Given the description of an element on the screen output the (x, y) to click on. 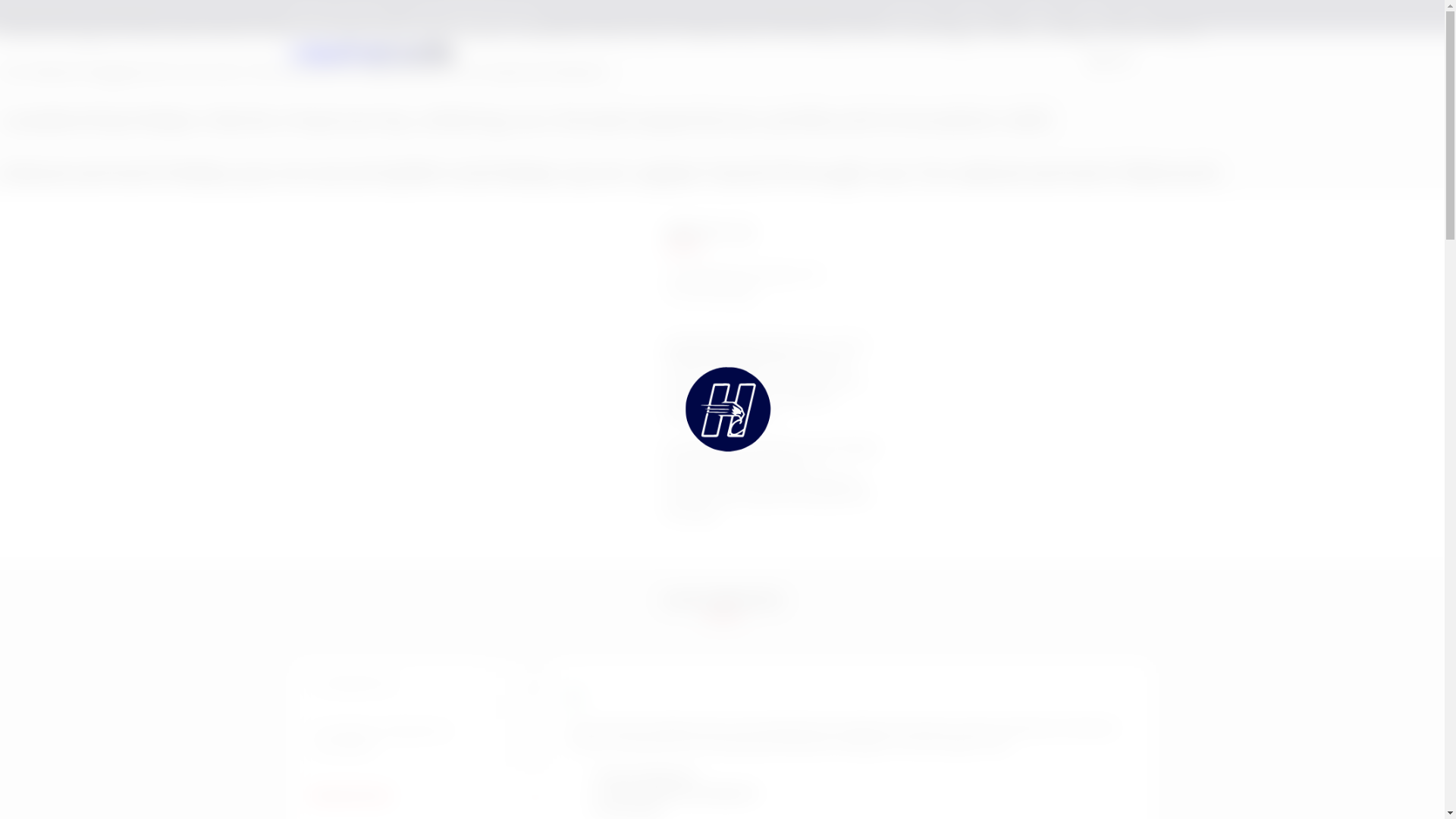
ABOUT US Element type: text (976, 18)
Business Applications Element type: text (647, 775)
PRODUCTS Element type: text (1018, 61)
SERVICES Element type: text (810, 61)
Data Analytics Element type: text (630, 809)
CONTACT US Element type: text (1110, 61)
CONTACT US Element type: text (1109, 61)
TECHNOLOGIES Element type: text (912, 61)
CAREERS Element type: text (1035, 18)
SITEMAP Element type: text (1091, 18)
BLOG Element type: text (1141, 18)
GLOBAL SITE Element type: text (903, 18)
INDUSTRIES Element type: text (719, 61)
Customer Experience Management Element type: text (678, 792)
  sales@hawkscode.com.au Element type: text (476, 16)
API Integration, Development & Customization Element type: text (419, 739)
Consulting Services Element type: text (419, 682)
